Given the description of an element on the screen output the (x, y) to click on. 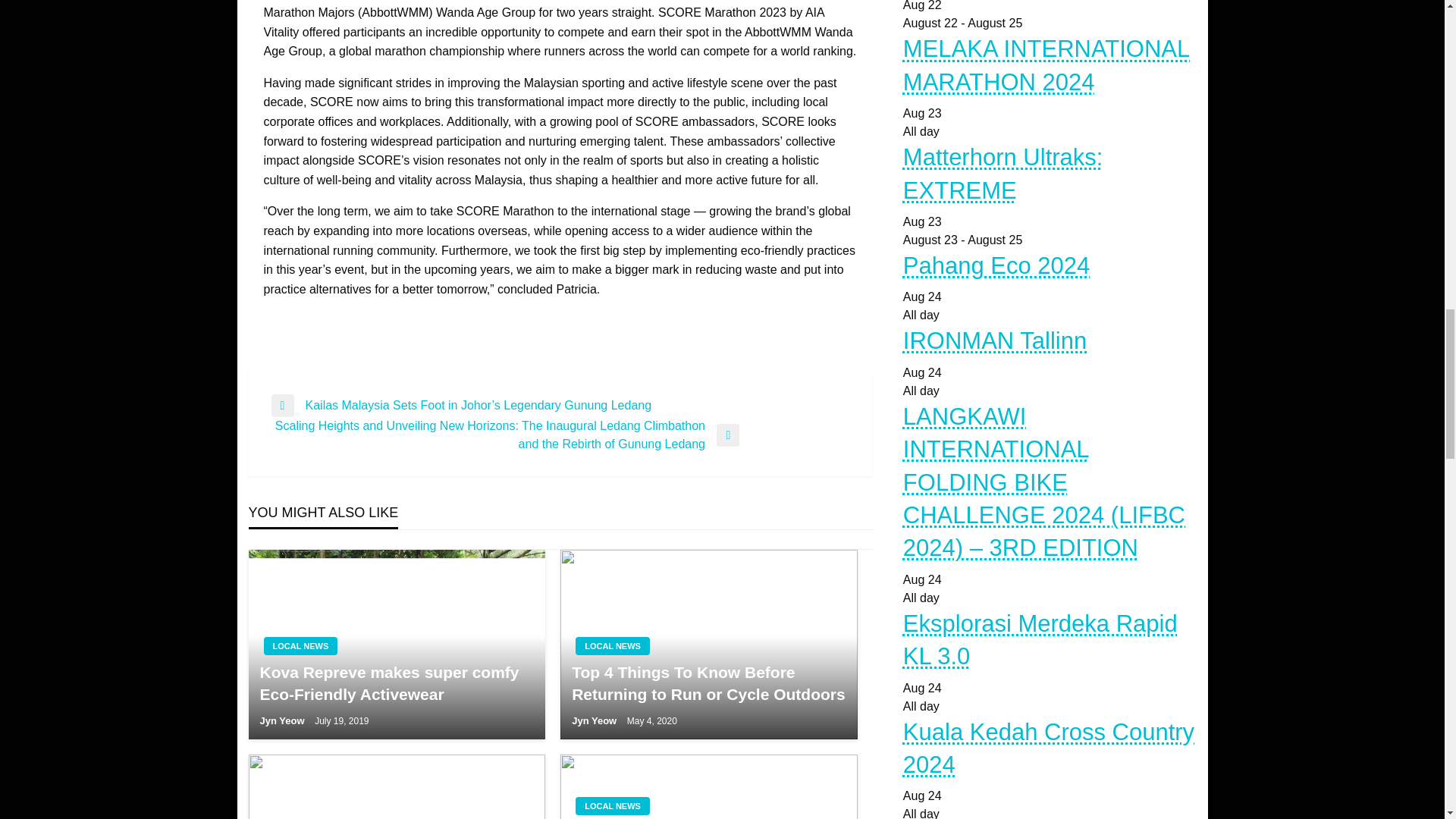
Kuala Kedah Cross Country 2024 (1047, 748)
MELAKA INTERNATIONAL MARATHON 2024 (1045, 65)
Eksplorasi Merdeka Rapid KL 3.0 (1039, 639)
IRONMAN Tallinn (994, 340)
Pahang Eco 2024 (996, 265)
Matterhorn Ultraks: EXTREME (1002, 173)
